Given the description of an element on the screen output the (x, y) to click on. 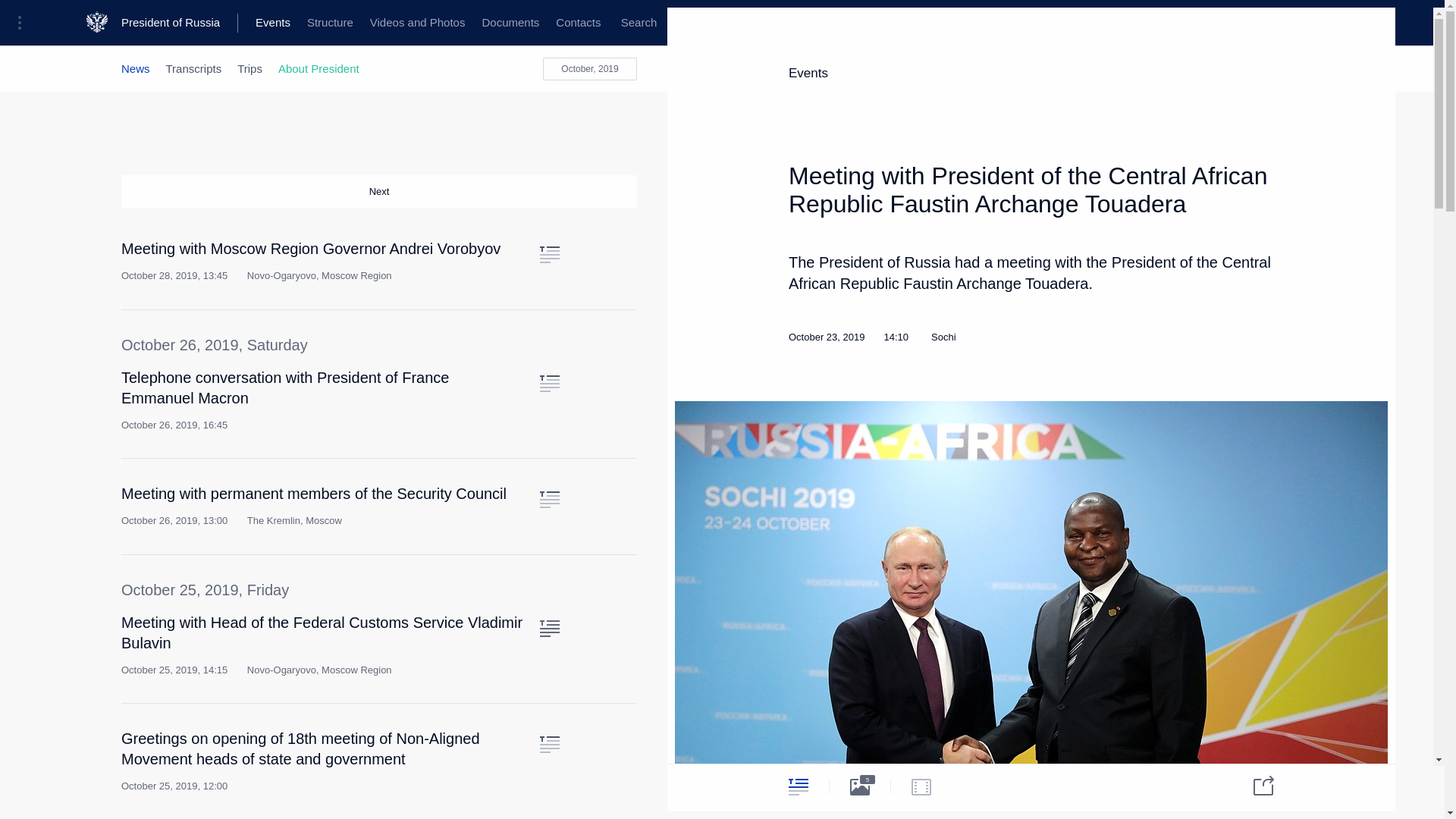
Next (378, 191)
Trips (249, 68)
About President (318, 68)
Contacts (577, 22)
Portal Menu (24, 22)
President (144, 22)
Text of the article (549, 744)
Events (272, 22)
October, 2019 (590, 68)
Text of the article (549, 254)
Security Council (470, 22)
Presidential Executive Office (257, 22)
News (134, 68)
